Given the description of an element on the screen output the (x, y) to click on. 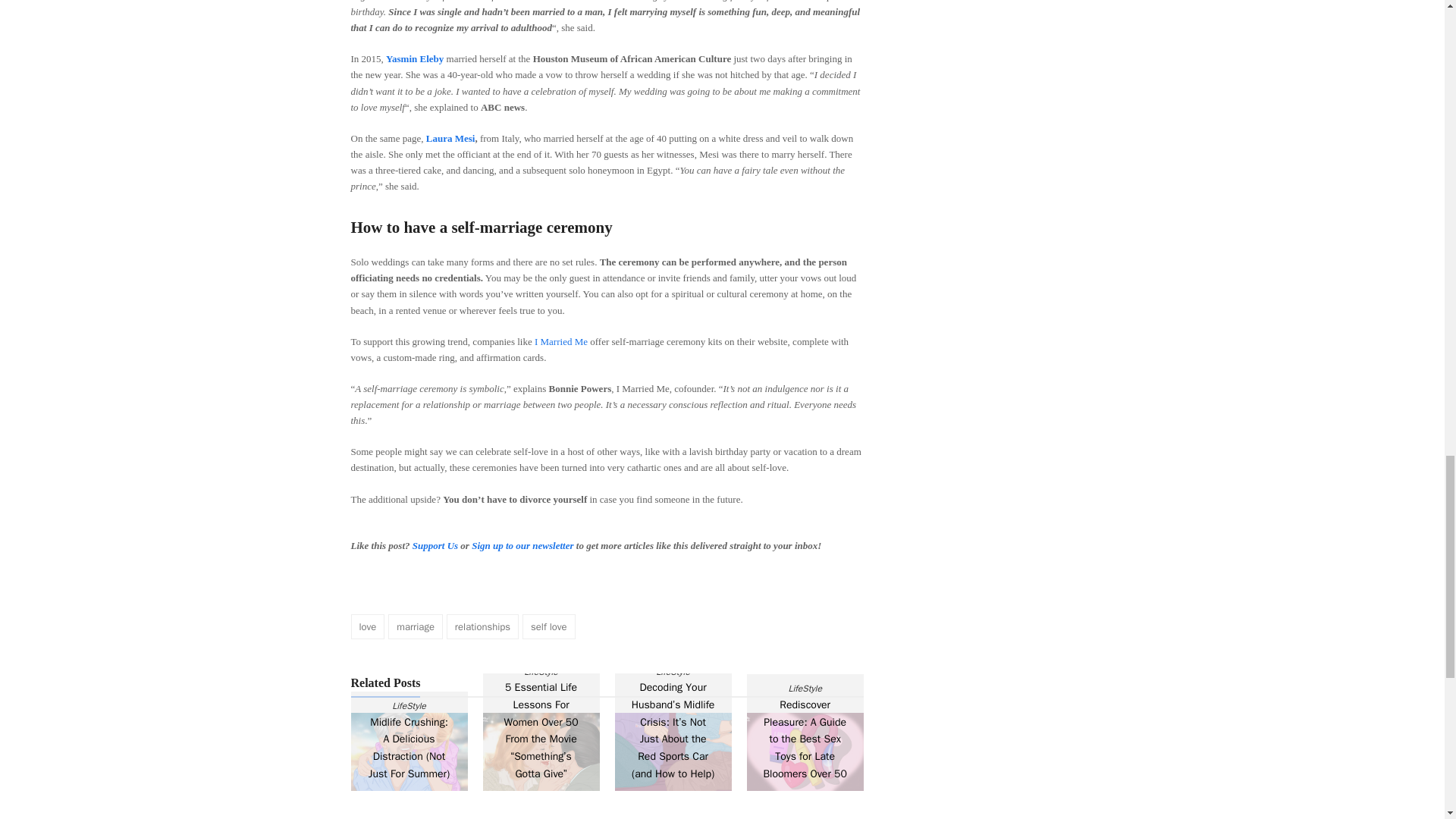
Sign up to our newsletter (522, 545)
I Married Me (561, 341)
Support Us (435, 545)
Laura Mesi (451, 138)
Yasmin Eleby (414, 58)
